Given the description of an element on the screen output the (x, y) to click on. 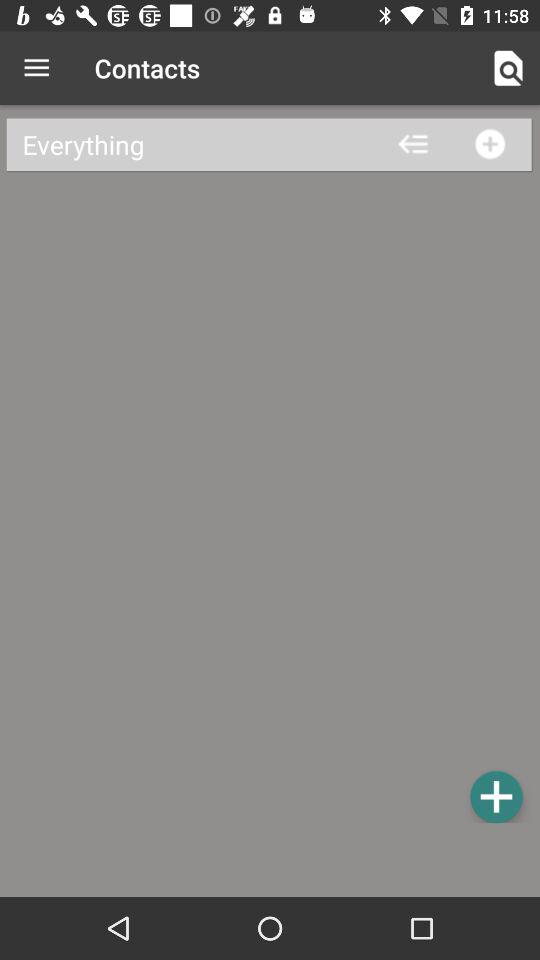
to add contacts (496, 796)
